Given the description of an element on the screen output the (x, y) to click on. 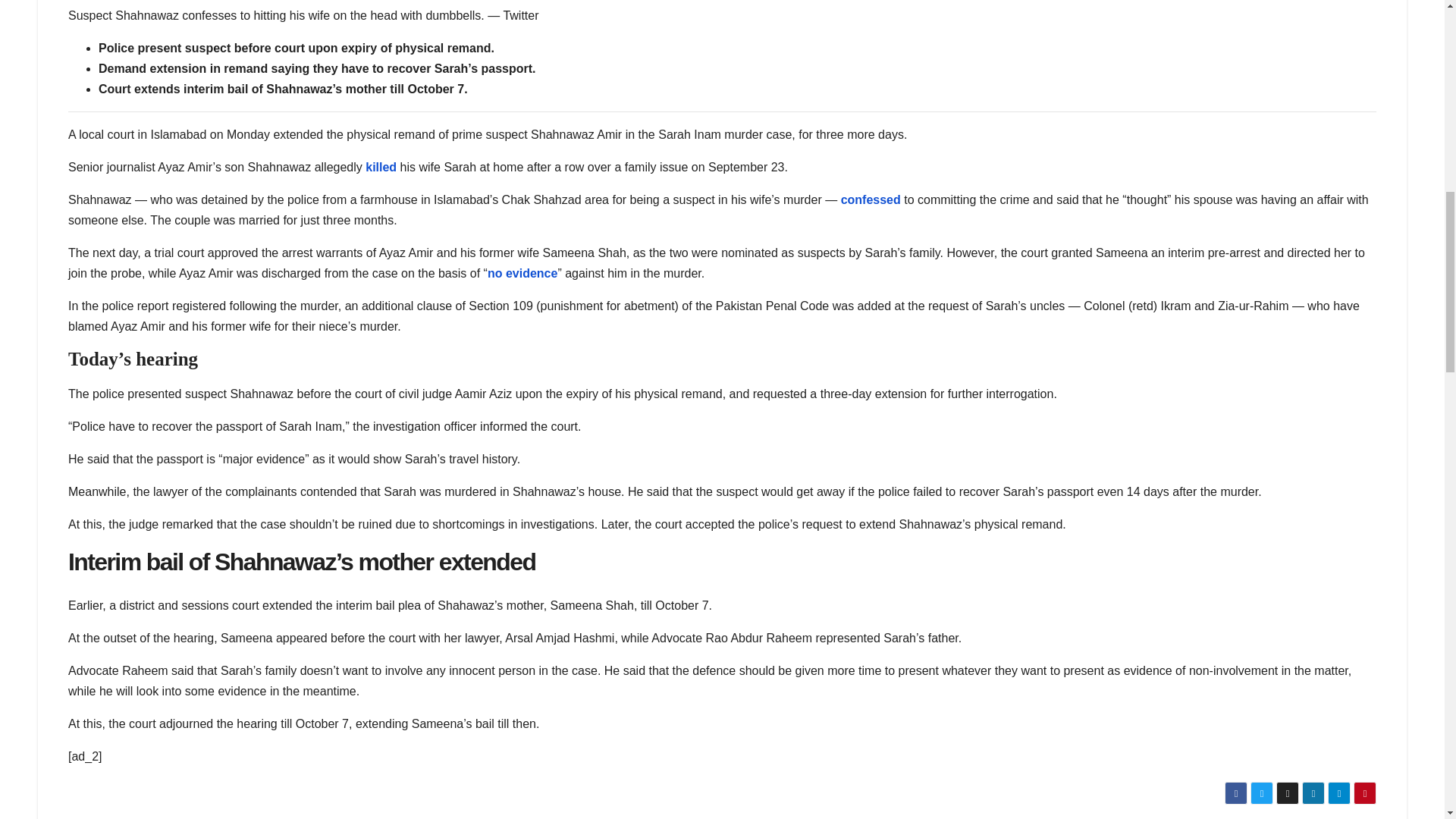
killed (381, 166)
no evidence (522, 273)
confessed (872, 199)
